Given the description of an element on the screen output the (x, y) to click on. 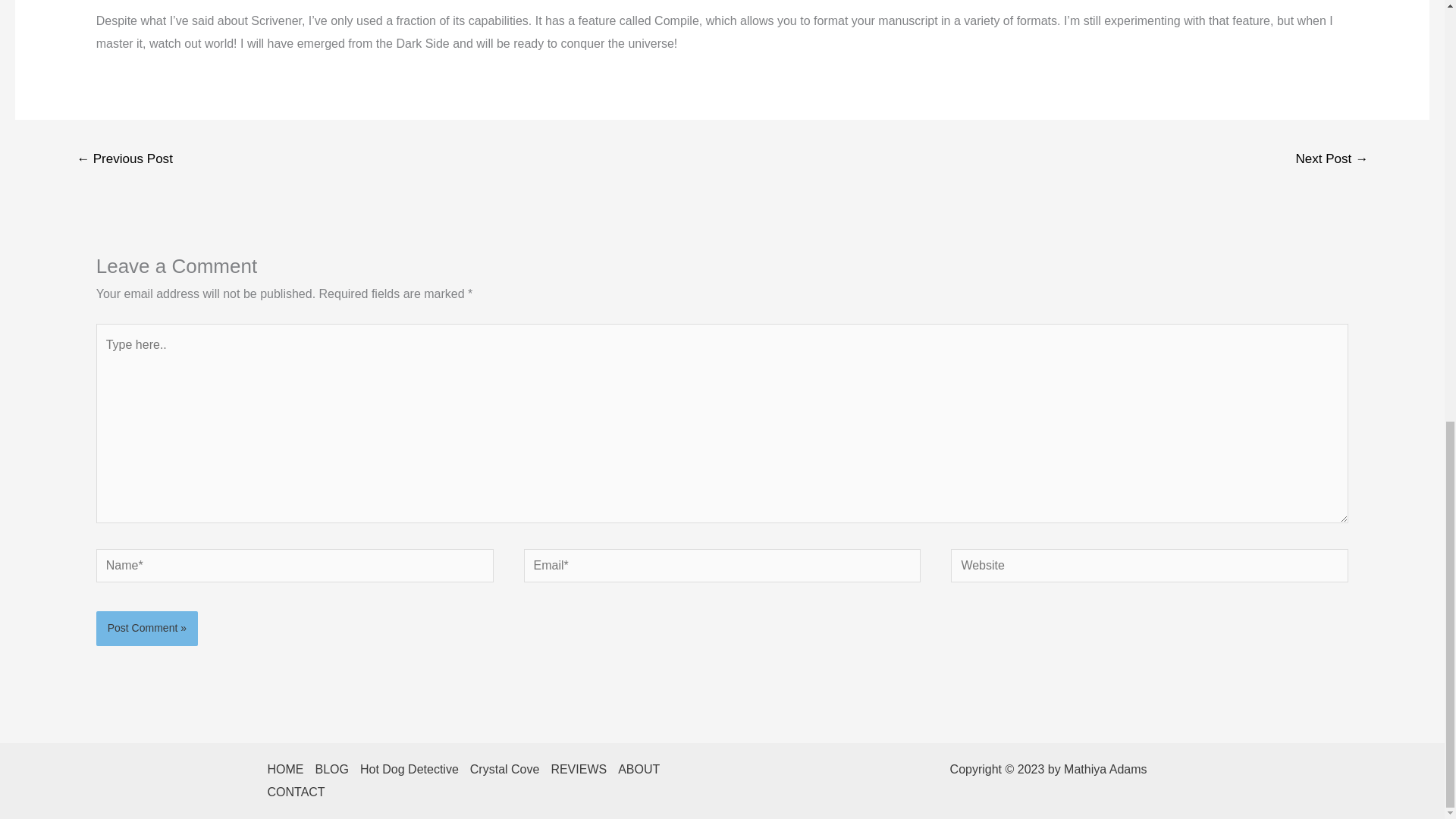
Crystal Cove (510, 769)
Hot Dog Detective (414, 769)
ABOUT (644, 769)
REVIEWS (583, 769)
HOME (290, 769)
CONTACT (301, 792)
BLOG (337, 769)
